Given the description of an element on the screen output the (x, y) to click on. 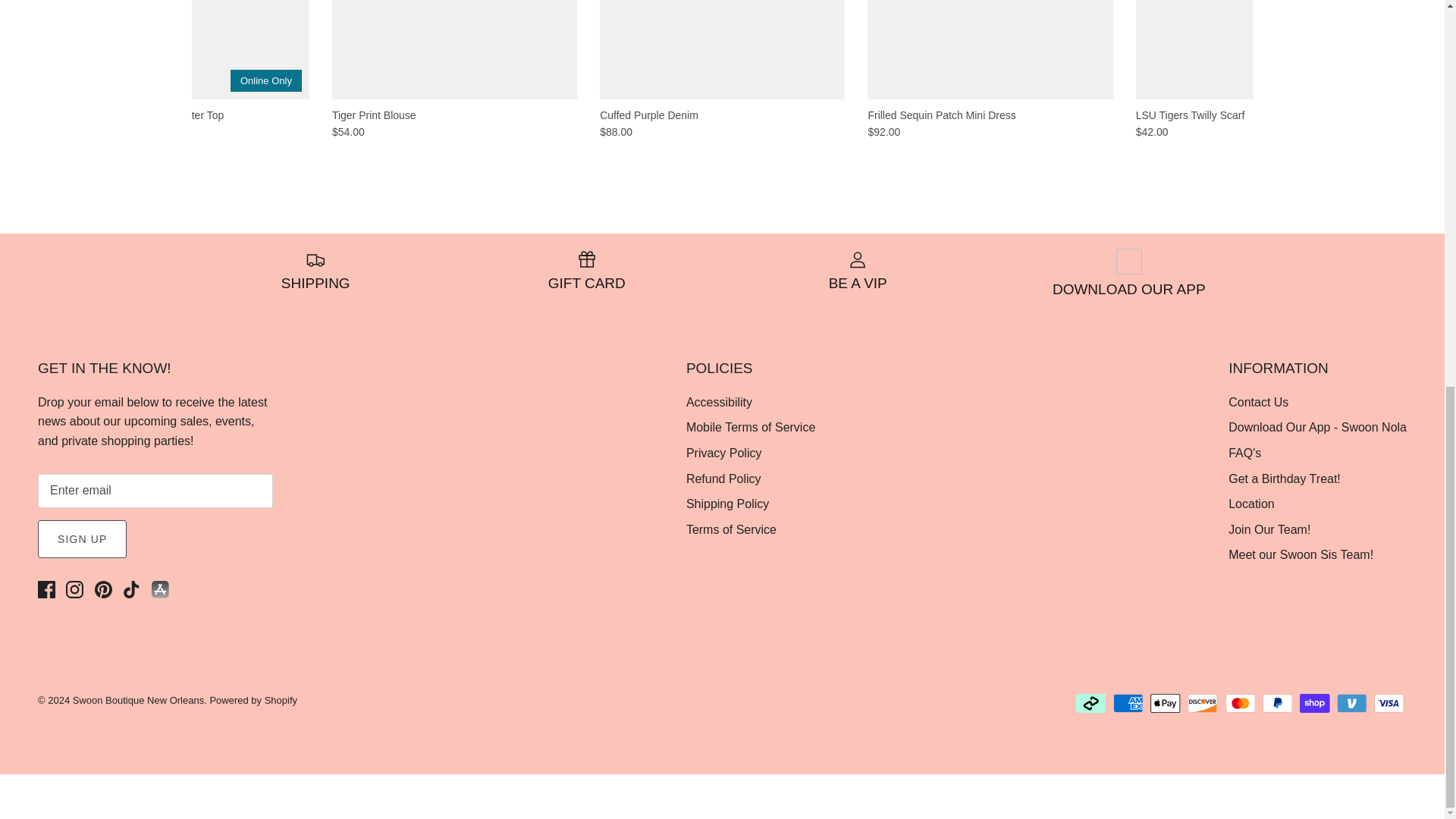
Apple Pay (1165, 702)
Instagram (73, 589)
Pinterest (103, 589)
Afterpay (1090, 702)
Facebook (46, 589)
Discover (1202, 702)
American Express (1127, 702)
